Given the description of an element on the screen output the (x, y) to click on. 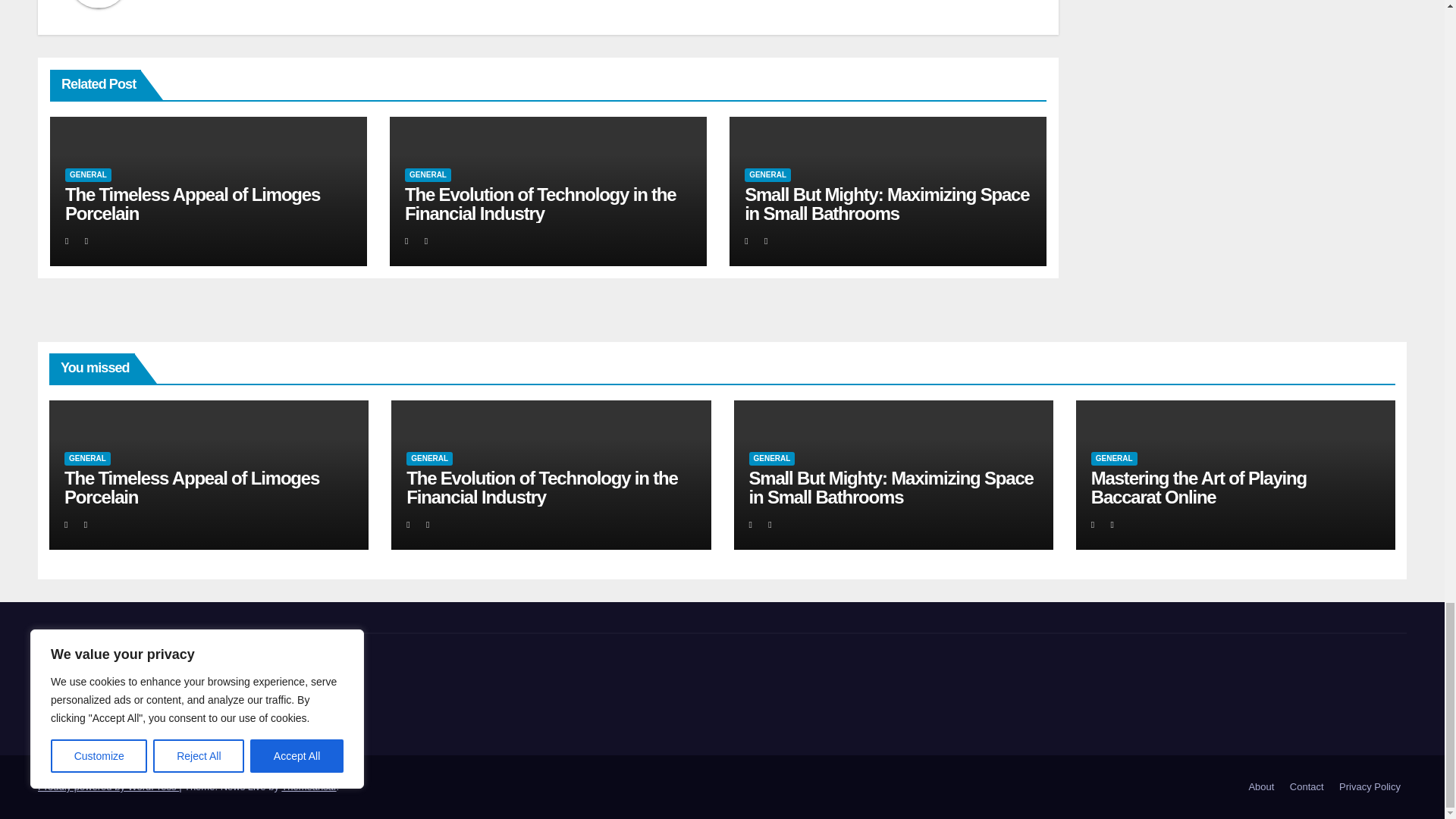
Permalink to: Mastering the Art of Playing Baccarat Online (1198, 486)
Permalink to: The Timeless Appeal of Limoges Porcelain (191, 486)
Privacy Policy (1369, 786)
Permalink to: The Timeless Appeal of Limoges Porcelain (192, 203)
Contact (1307, 786)
About (1260, 786)
